Given the description of an element on the screen output the (x, y) to click on. 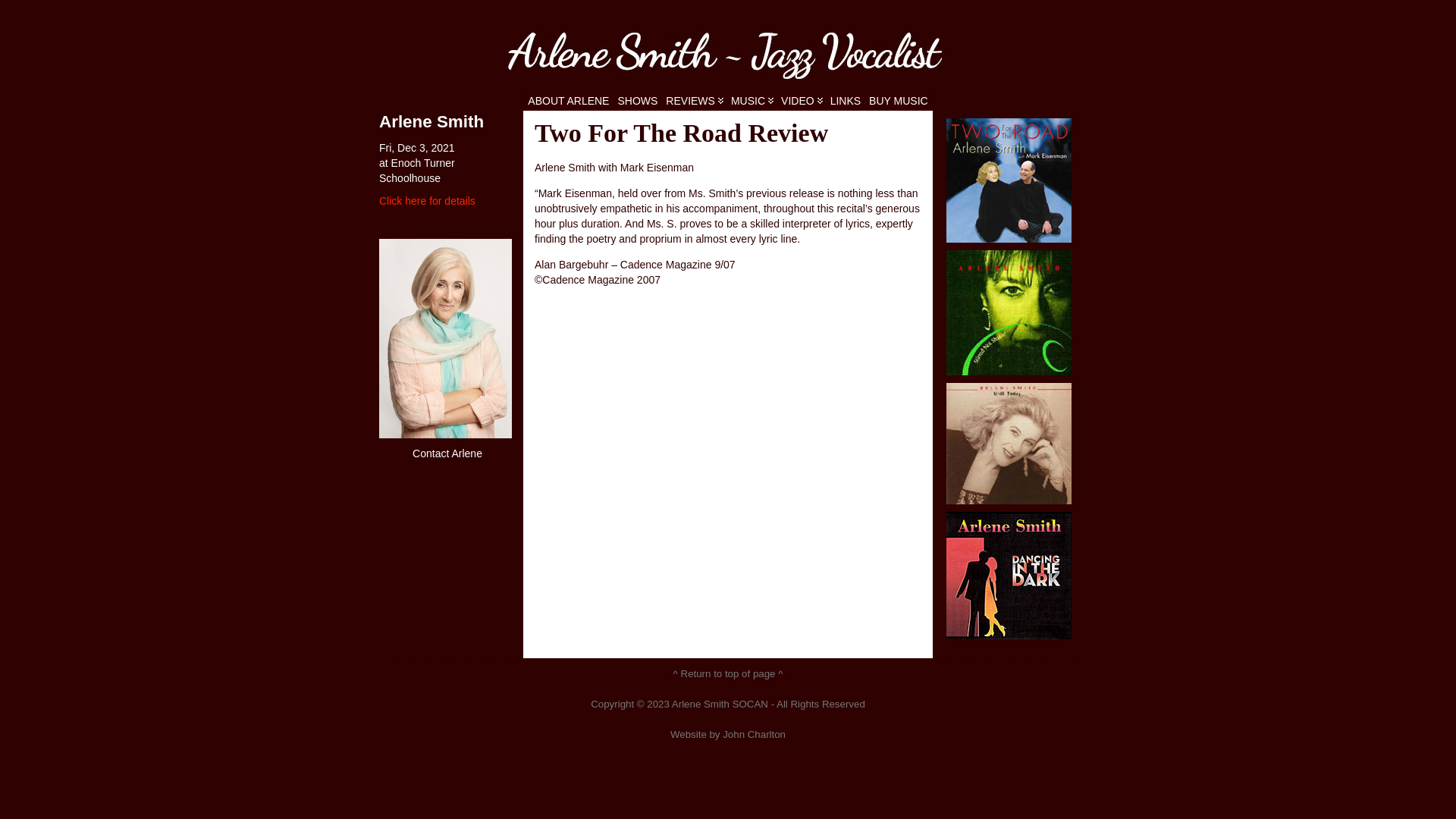
BUY MUSIC Element type: text (898, 100)
^ Return to top of page ^ Element type: text (728, 673)
LINKS Element type: text (845, 100)
Dancing In The Dark Element type: hover (1008, 575)
Until Today Element type: hover (1008, 443)
VIDEO Element type: text (801, 100)
  Element type: text (727, 53)
John Charlton Element type: text (753, 734)
Contact Arlene Element type: text (447, 453)
Stirred Not Shakin' Element type: hover (1008, 312)
MUSIC Element type: text (751, 100)
ABOUT ARLENE Element type: text (568, 100)
SHOWS Element type: text (637, 100)
REVIEWS Element type: text (694, 100)
Two for the Road Element type: hover (1008, 180)
Click here for details Element type: text (427, 200)
